Given the description of an element on the screen output the (x, y) to click on. 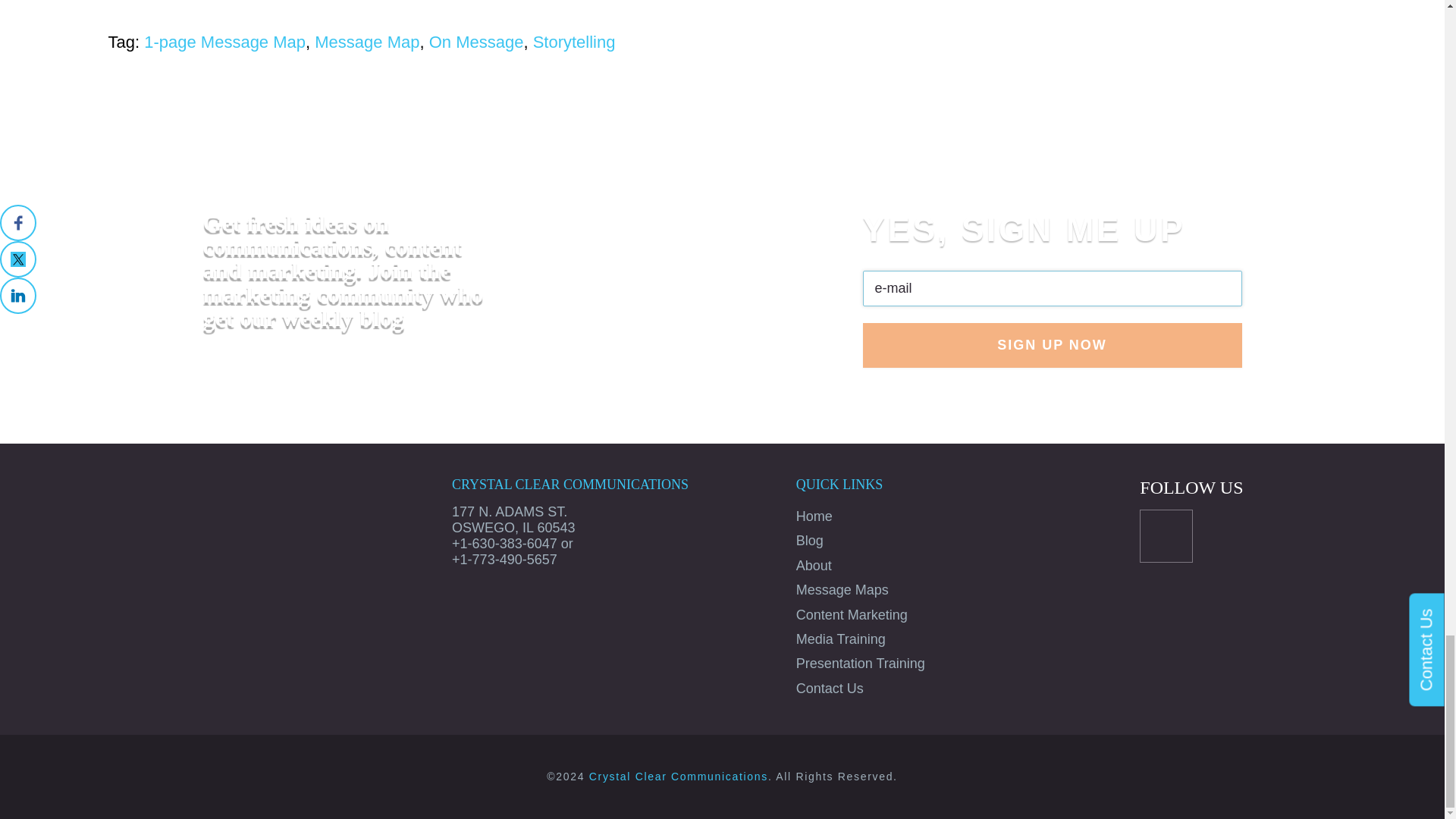
Sign up now (1052, 344)
On Message (476, 41)
1-page Message Map (224, 41)
click to join (1052, 344)
Storytelling (573, 41)
Message Map (366, 41)
